Given the description of an element on the screen output the (x, y) to click on. 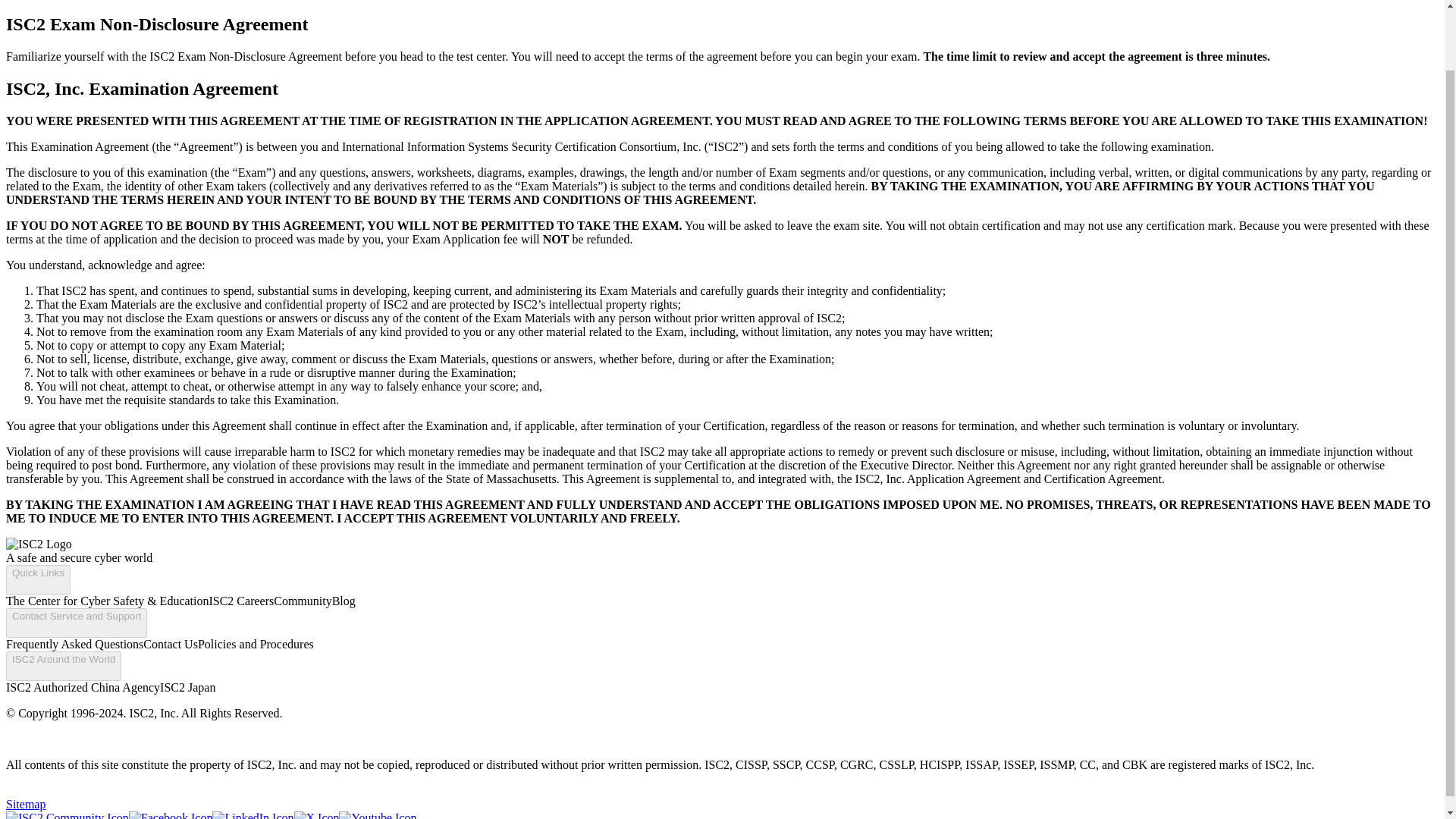
Quick Links (37, 579)
ISC2 Around the World (62, 665)
Sitemap (25, 803)
Contact Service and Support (76, 623)
